Given the description of an element on the screen output the (x, y) to click on. 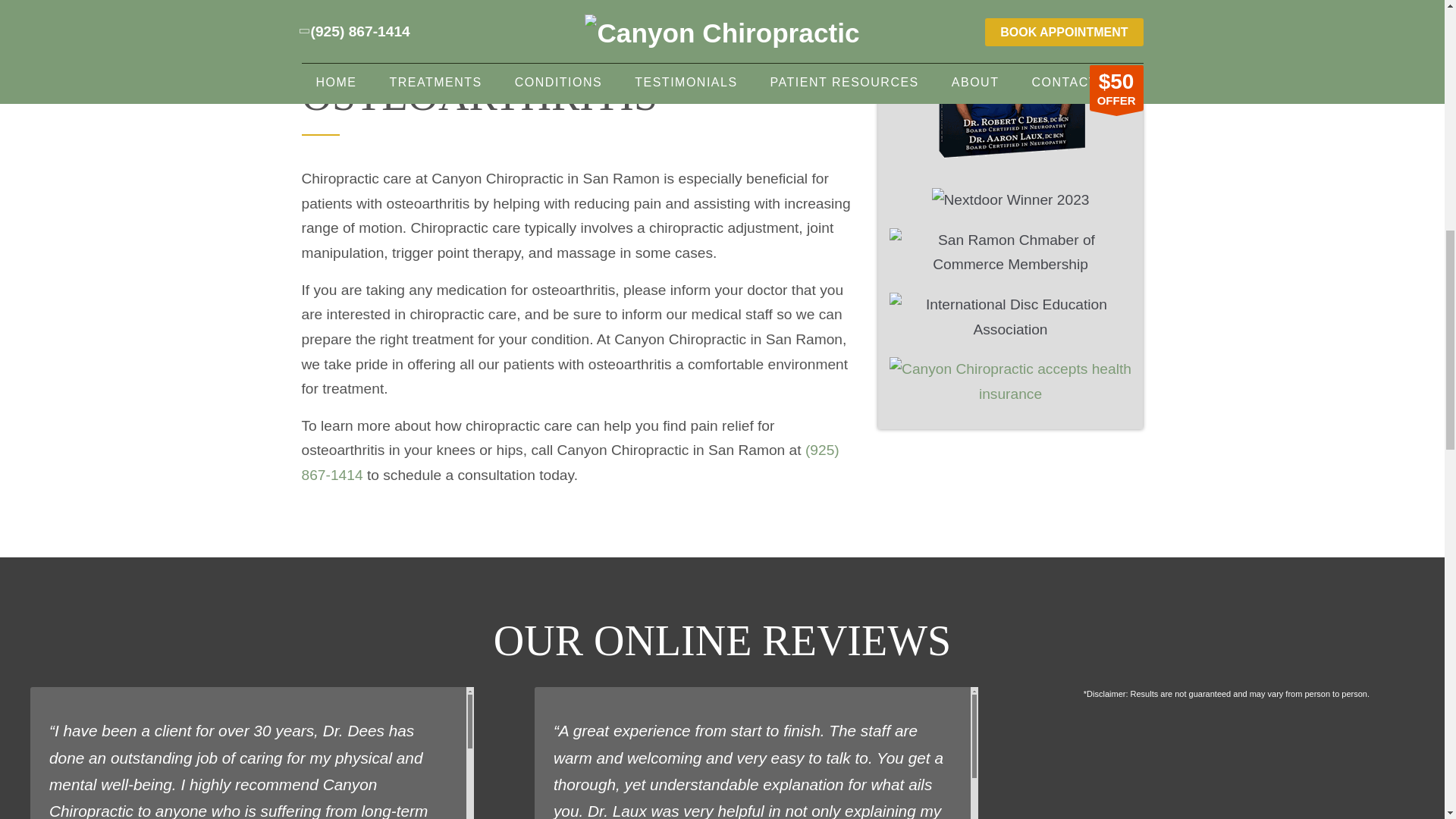
Click here to see insurance options (1009, 373)
